Given the description of an element on the screen output the (x, y) to click on. 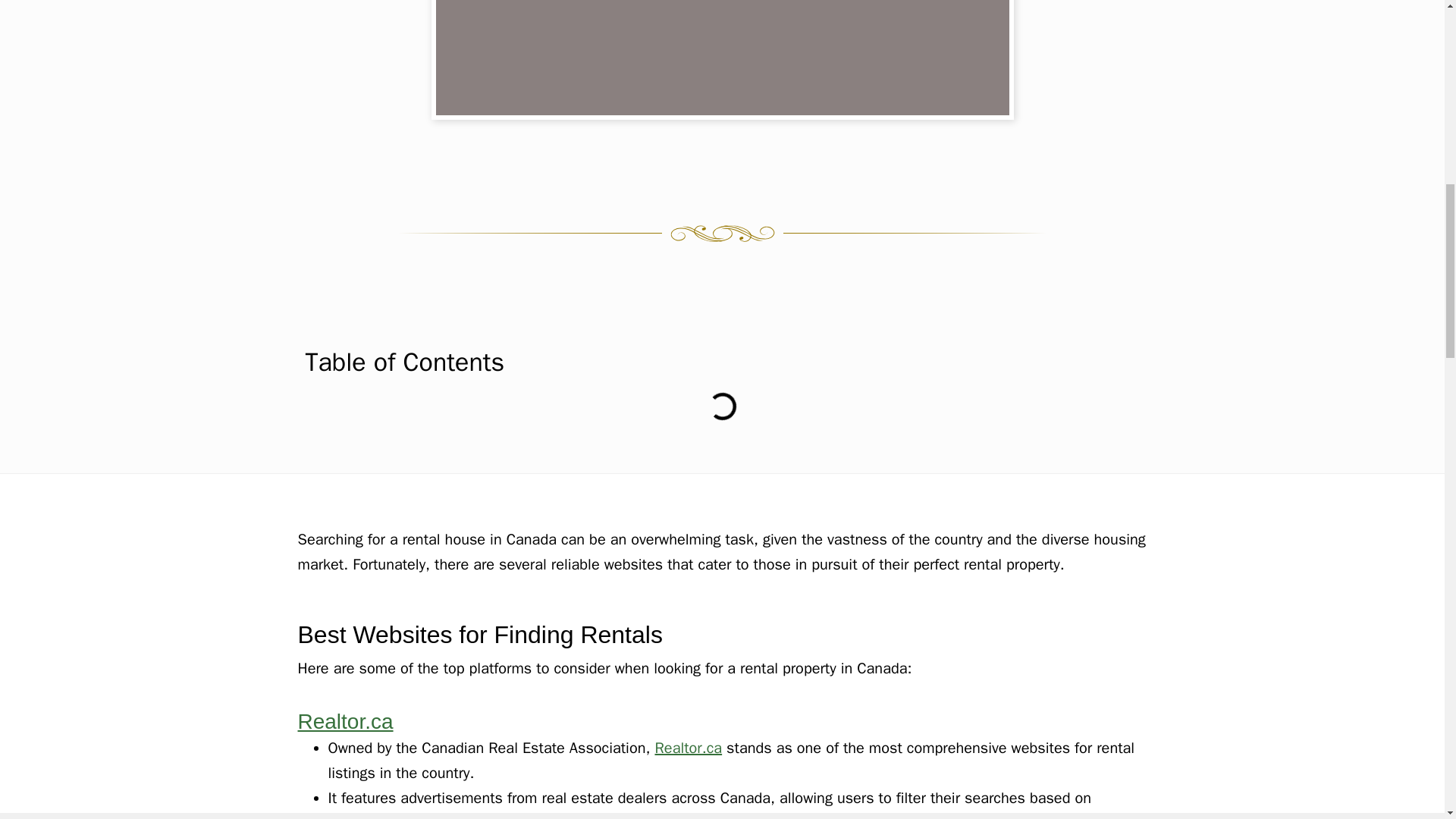
Realtor.ca (687, 747)
Realtor.ca (345, 721)
